Given the description of an element on the screen output the (x, y) to click on. 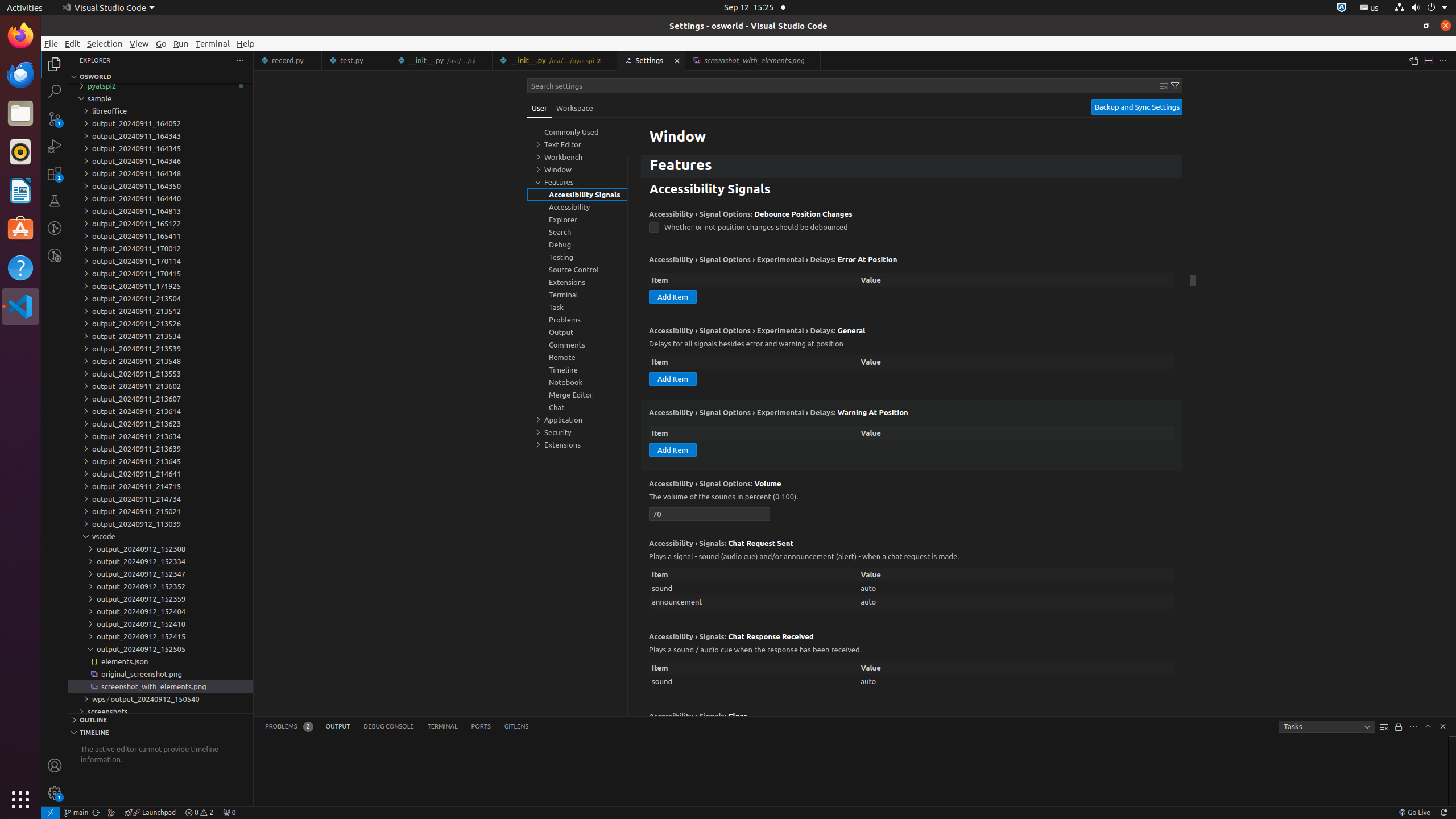
Source Control, group Element type: tree-item (577, 269)
Timeline Section Element type: push-button (160, 731)
accessibility.signalOptions.volume Element type: spin-button (709, 513)
output_20240911_213614 Element type: tree-item (160, 410)
